Given the description of an element on the screen output the (x, y) to click on. 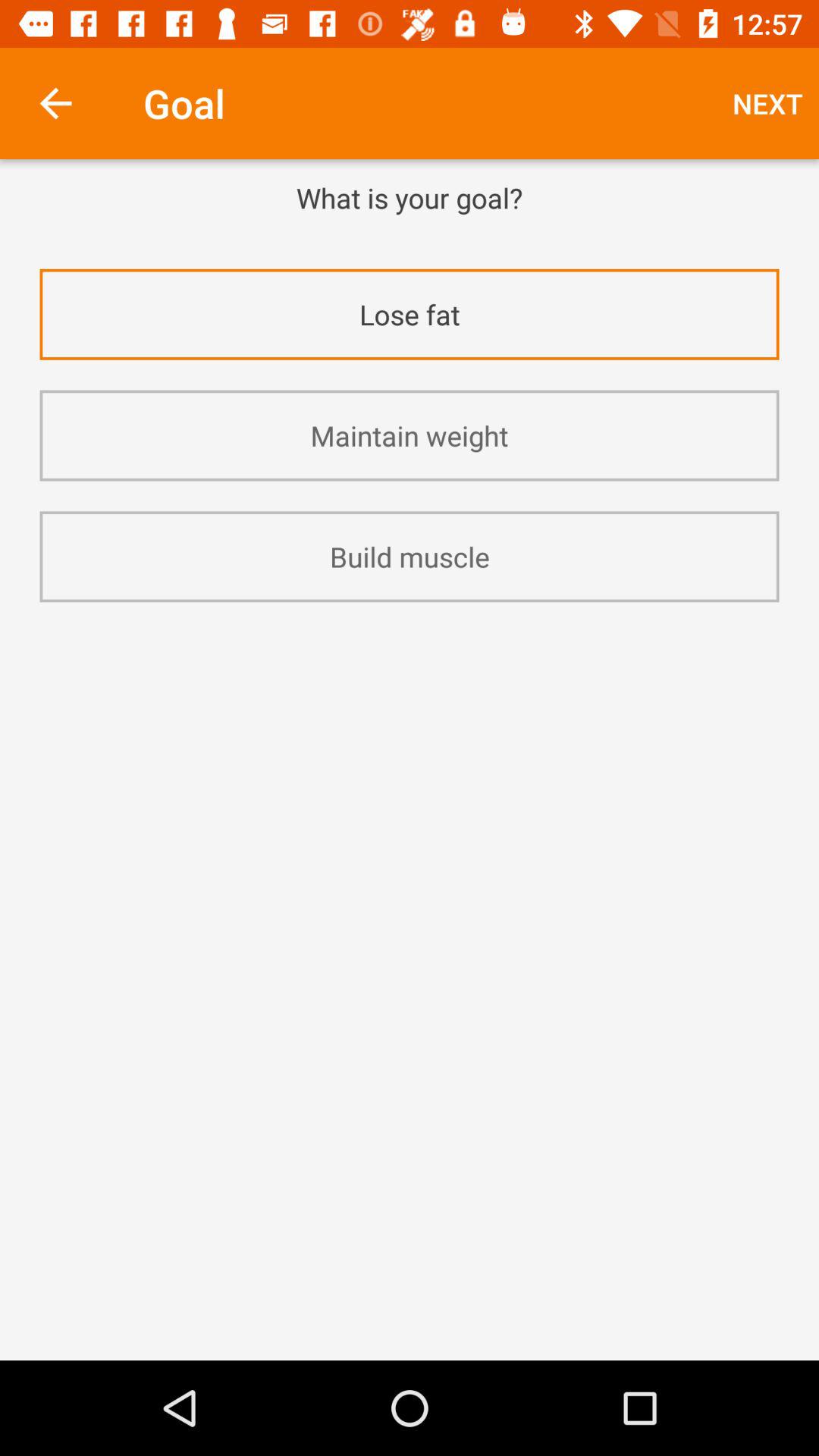
select app below build muscle (409, 643)
